Given the description of an element on the screen output the (x, y) to click on. 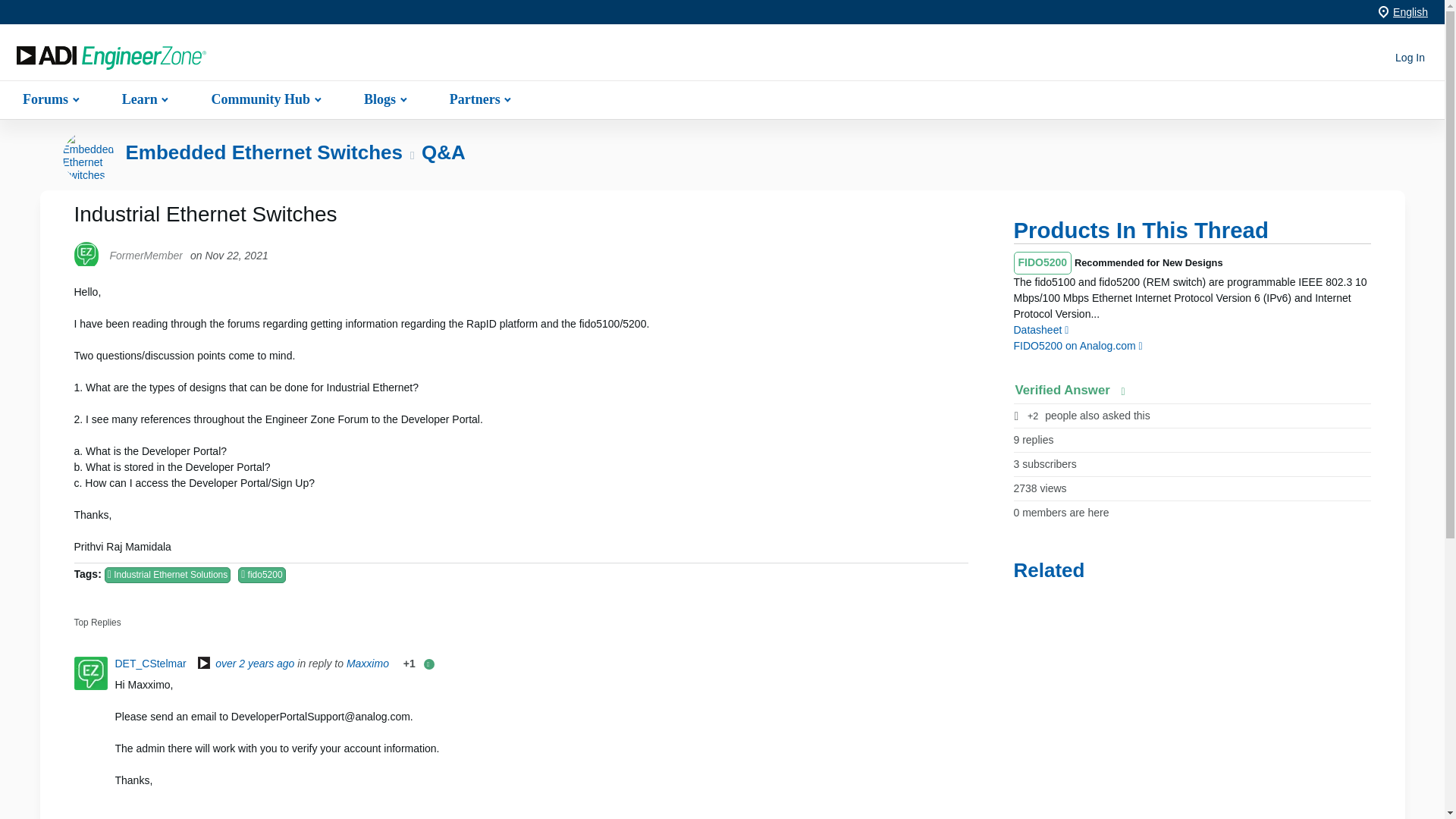
Forums (49, 98)
Home (111, 57)
Log In (1409, 57)
Join or sign in (1409, 57)
English (1410, 11)
Analog Employees (203, 663)
